Given the description of an element on the screen output the (x, y) to click on. 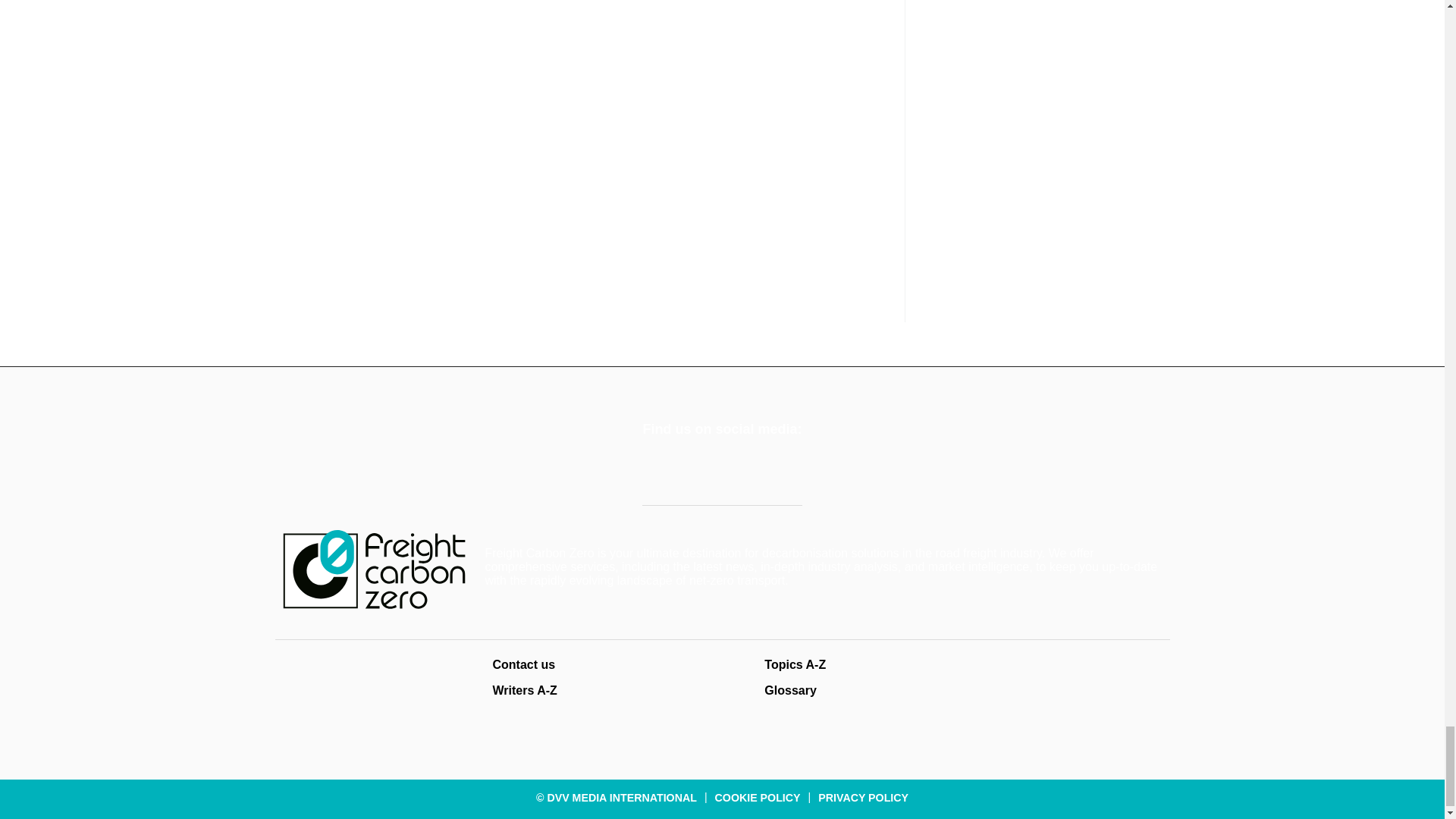
Email us (737, 468)
Connect with us on Linked In (697, 468)
Connect with us on Twitter (658, 468)
